Given the description of an element on the screen output the (x, y) to click on. 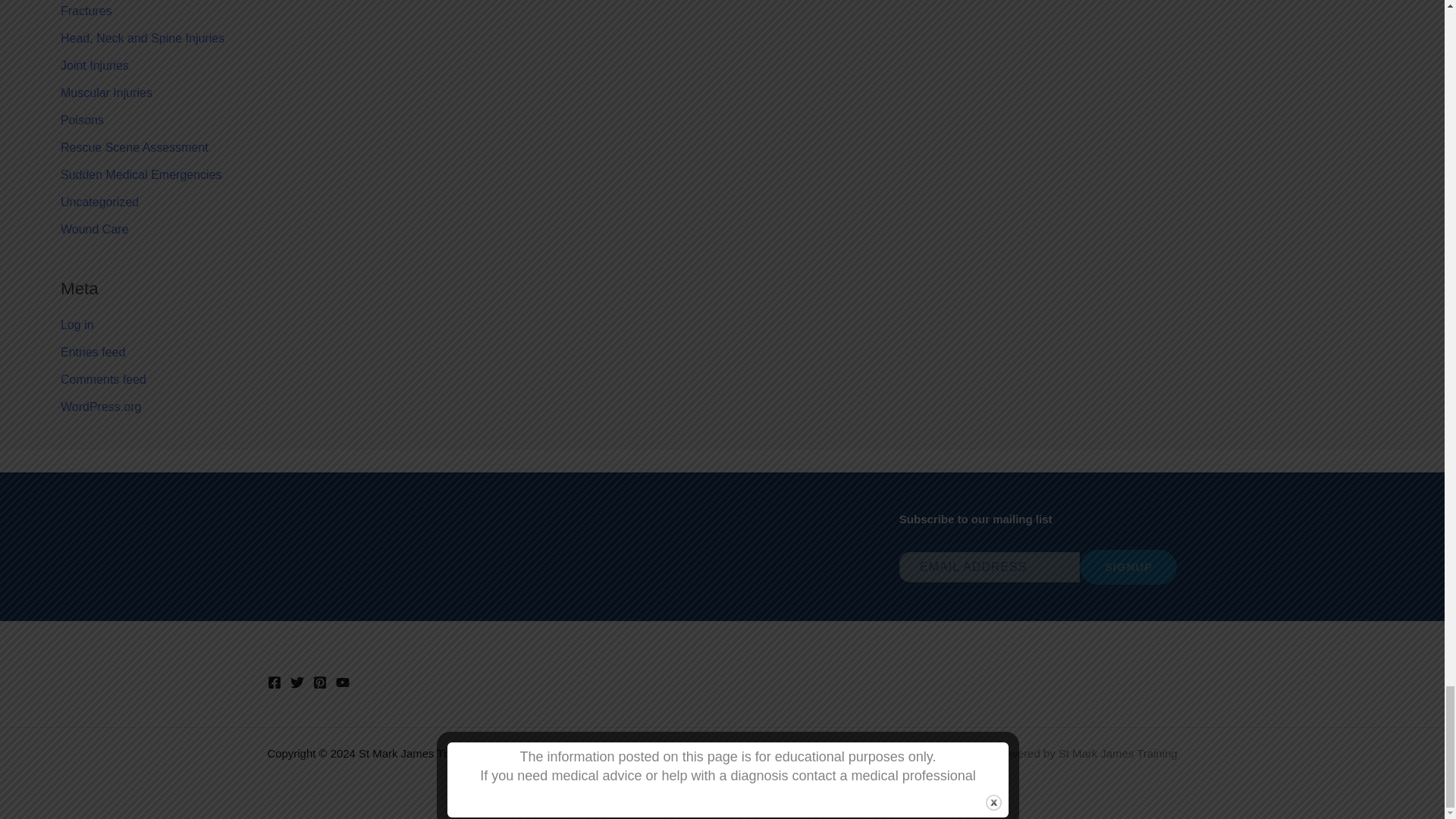
Signup (1128, 566)
